Given the description of an element on the screen output the (x, y) to click on. 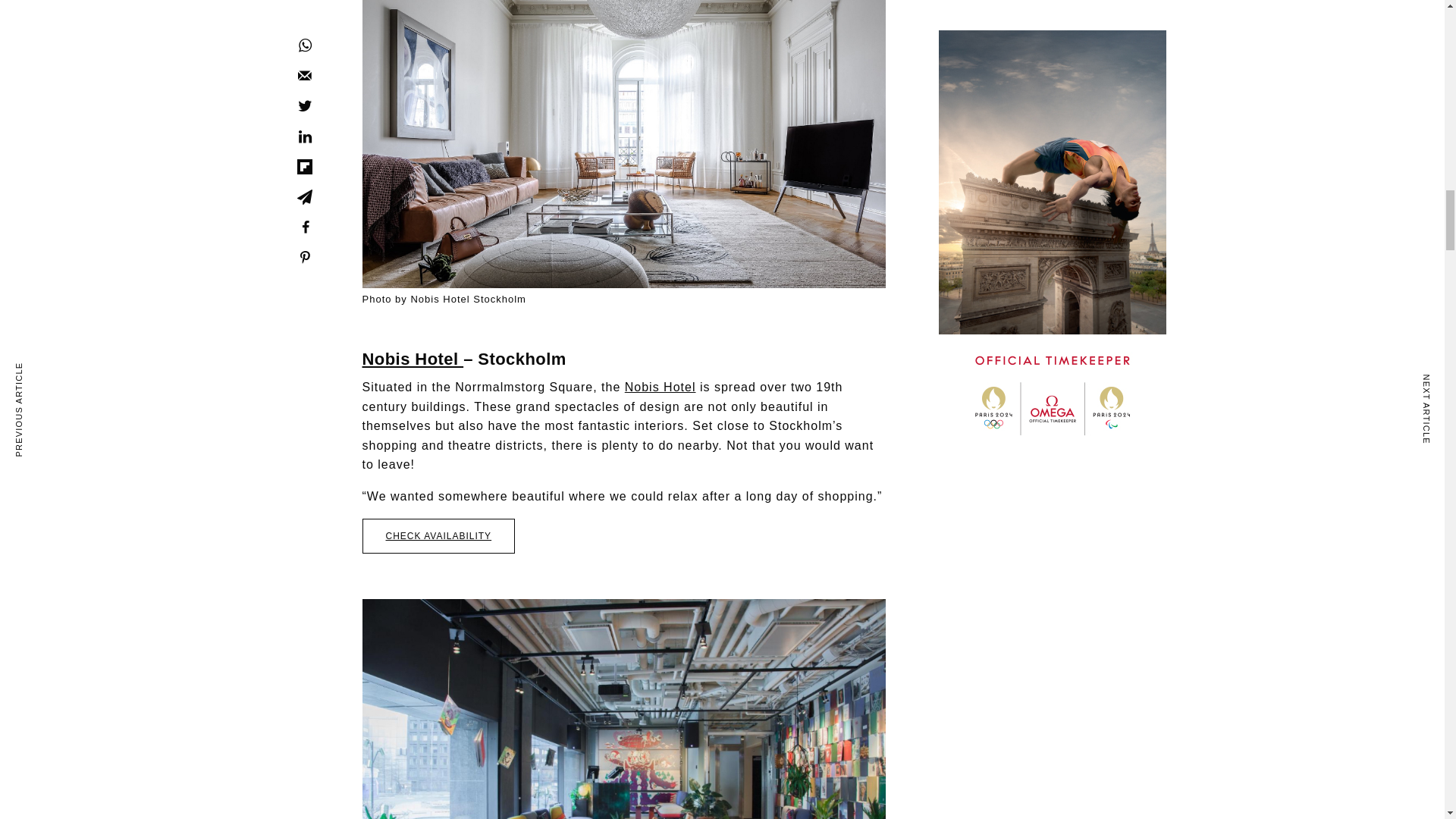
Nobis Hotel (413, 358)
Nobis Hotel (659, 386)
